Given the description of an element on the screen output the (x, y) to click on. 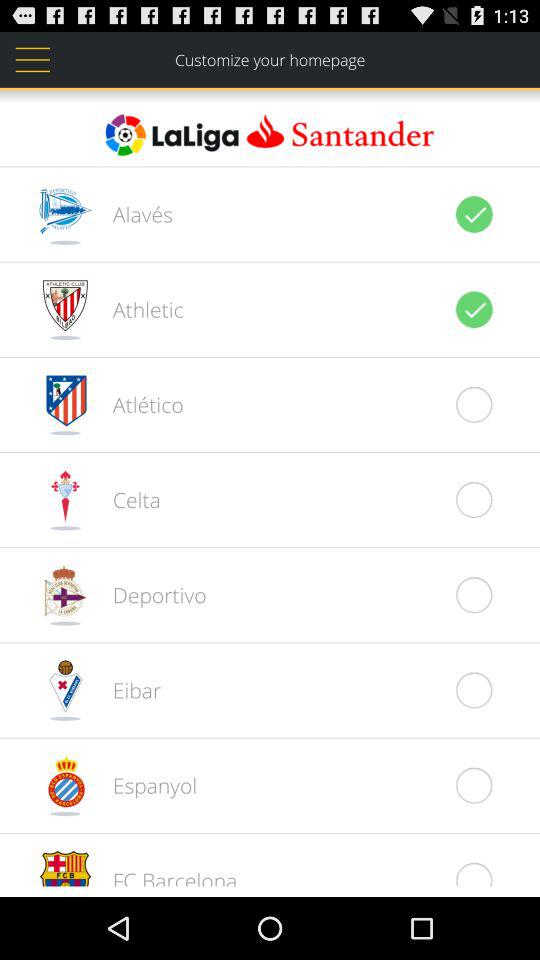
flip to the eibar item (126, 690)
